Given the description of an element on the screen output the (x, y) to click on. 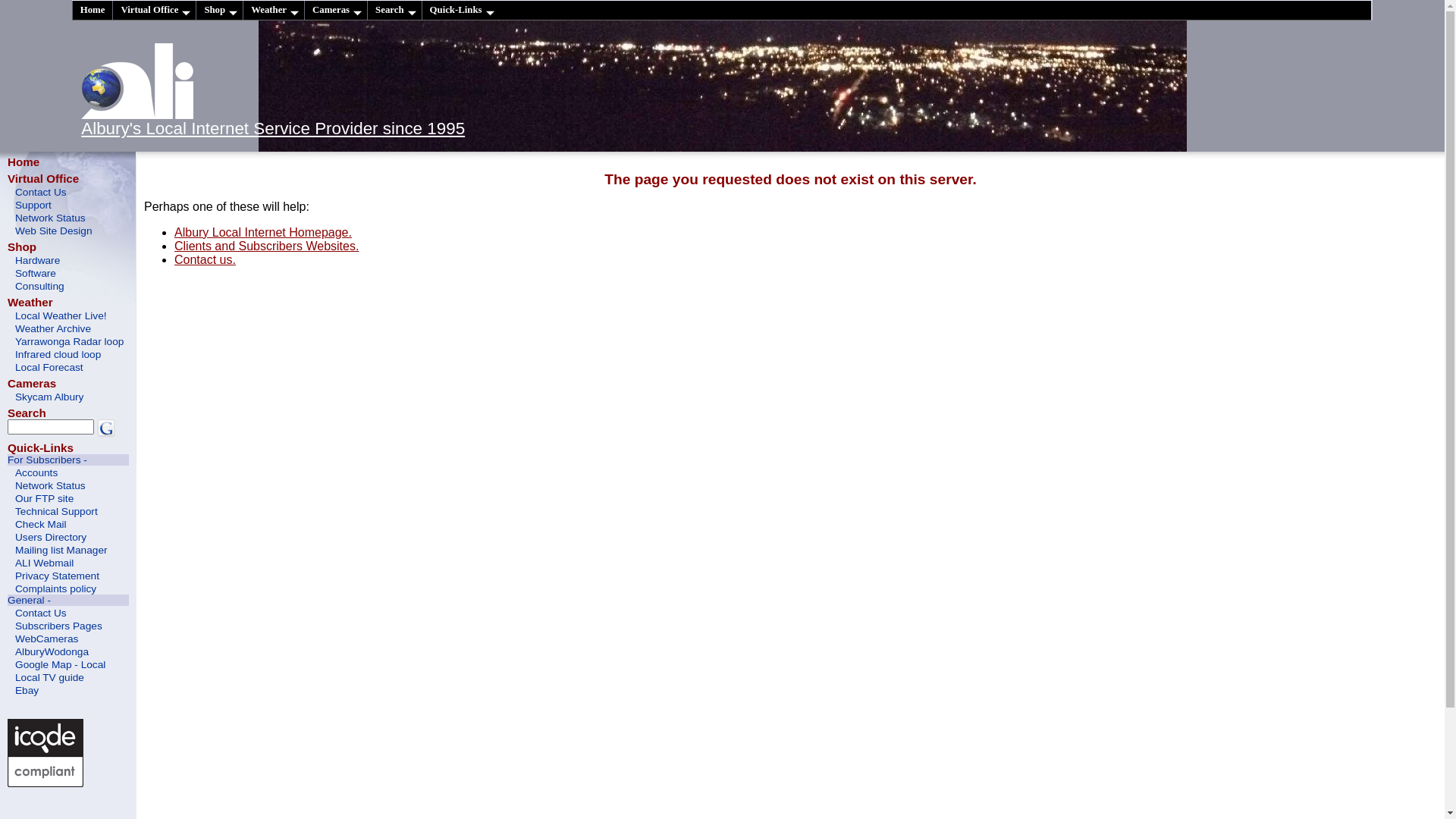
Weather Element type: text (30, 301)
ALI Webmail Element type: text (67, 561)
Consulting Element type: text (67, 285)
Weather Element type: text (273, 9)
Albury's Local Internet Service Provider since 1995 Element type: text (272, 128)
Quick-Links Element type: text (40, 447)
Software Element type: text (67, 272)
Google Map - Local Element type: text (67, 663)
Check Mail Element type: text (67, 523)
Cameras Element type: text (335, 9)
Contact Us Element type: text (67, 191)
Local Weather Live! Element type: text (67, 314)
Albury Local Internet Homepage. Element type: text (262, 231)
Quick-Links Element type: text (460, 9)
Technical Support Element type: text (67, 510)
Ebay Element type: text (67, 689)
Mailing list Manager Element type: text (67, 548)
Home Element type: text (92, 9)
AlburyWodonga Element type: text (67, 650)
Local TV guide Element type: text (67, 676)
Shop Element type: text (218, 9)
Hardware Element type: text (67, 259)
Privacy Statement Element type: text (67, 574)
Web Site Design Element type: text (67, 229)
Subscribers Pages Element type: text (67, 624)
Our FTP site Element type: text (67, 497)
Local Forecast Element type: text (67, 366)
Virtual Office Element type: text (153, 9)
Skycam Albury Element type: text (67, 395)
Complaints policy Element type: text (67, 587)
Network Status Element type: text (67, 484)
Shop Element type: text (21, 246)
Network Status Element type: text (67, 216)
Support Element type: text (67, 203)
Search Element type: text (393, 9)
Contact us. Element type: text (204, 259)
WebCameras Element type: text (67, 637)
Accounts Element type: text (67, 471)
Users Directory Element type: text (67, 536)
Clients and Subscribers Websites. Element type: text (266, 245)
Virtual Office Element type: text (42, 178)
Infrared cloud loop Element type: text (67, 353)
Yarrawonga Radar loop Element type: text (67, 340)
Search Element type: text (26, 412)
Contact Us Element type: text (67, 611)
Weather Archive Element type: text (67, 327)
Cameras Element type: text (31, 382)
Home Element type: text (23, 161)
